Given the description of an element on the screen output the (x, y) to click on. 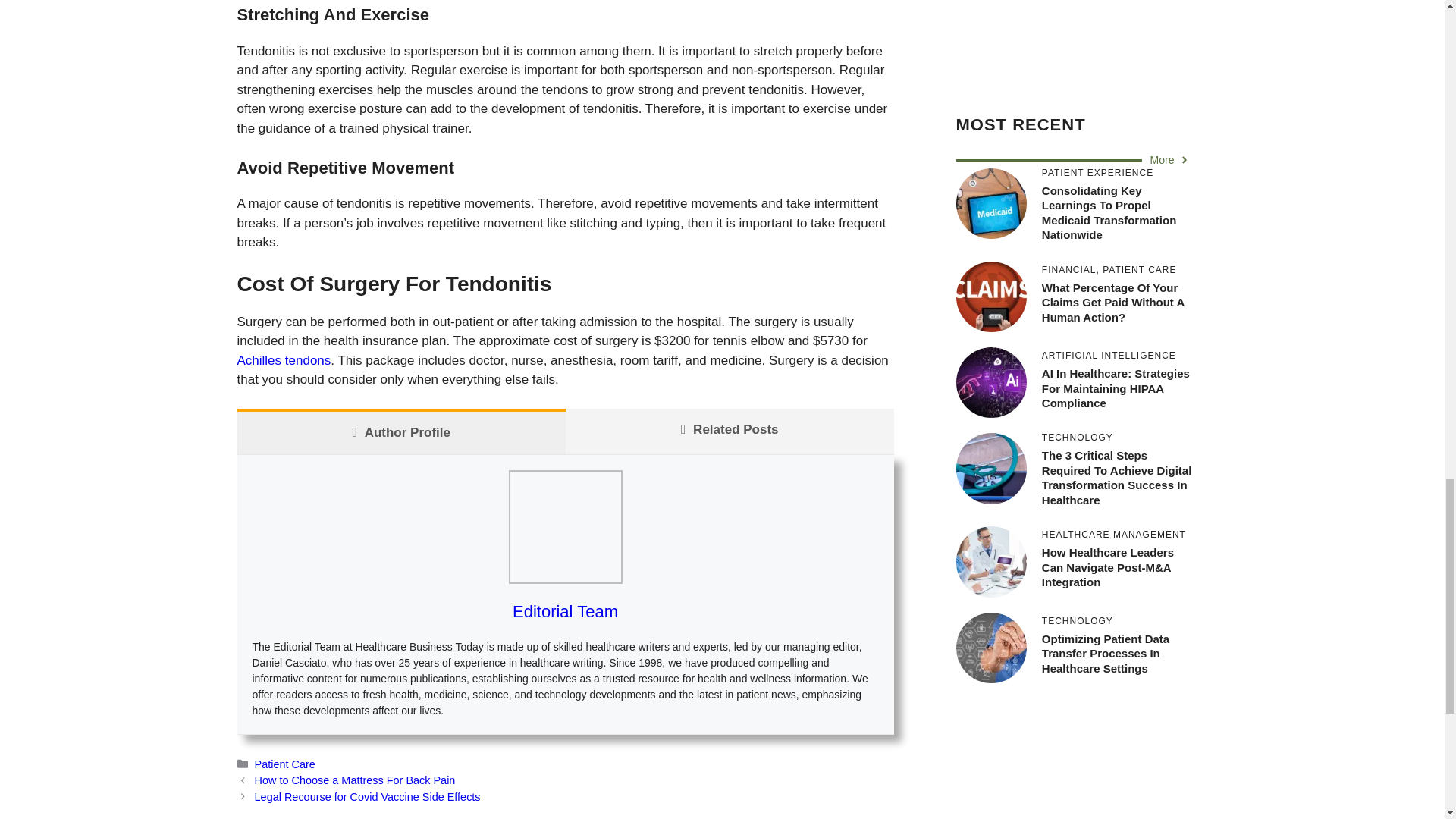
Achilles tendons (282, 359)
Everything You Need to Know About Tendonitis 1 (564, 526)
How to Choose a Mattress For Back Pain (354, 779)
Legal Recourse for Covid Vaccine Side Effects (367, 797)
Patient Care (284, 764)
Editorial Team (564, 610)
